Given the description of an element on the screen output the (x, y) to click on. 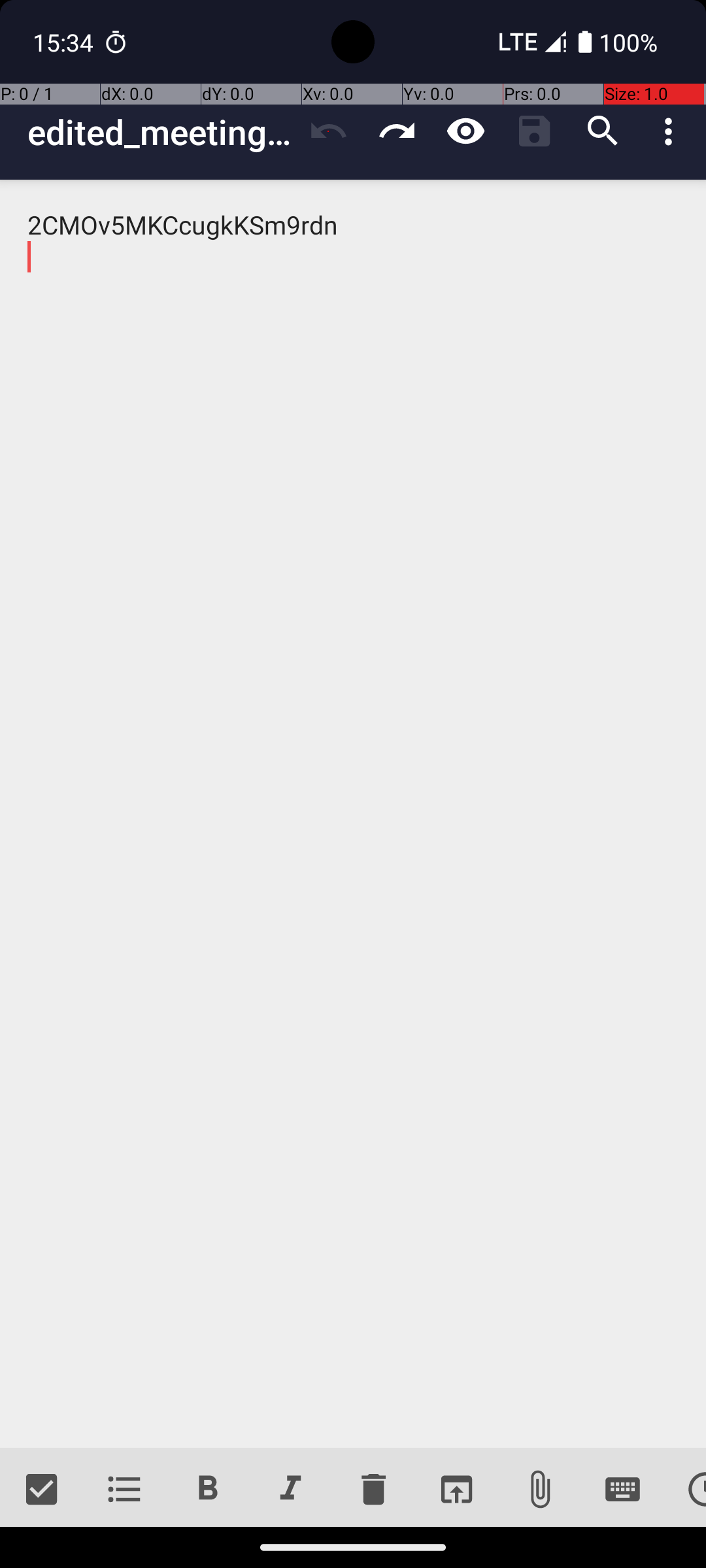
edited_meeting_notes_project_team Element type: android.widget.TextView (160, 131)
2CMOv5MKCcugkKSm9rdn
- [ ]  Element type: android.widget.EditText (353, 813)
